Given the description of an element on the screen output the (x, y) to click on. 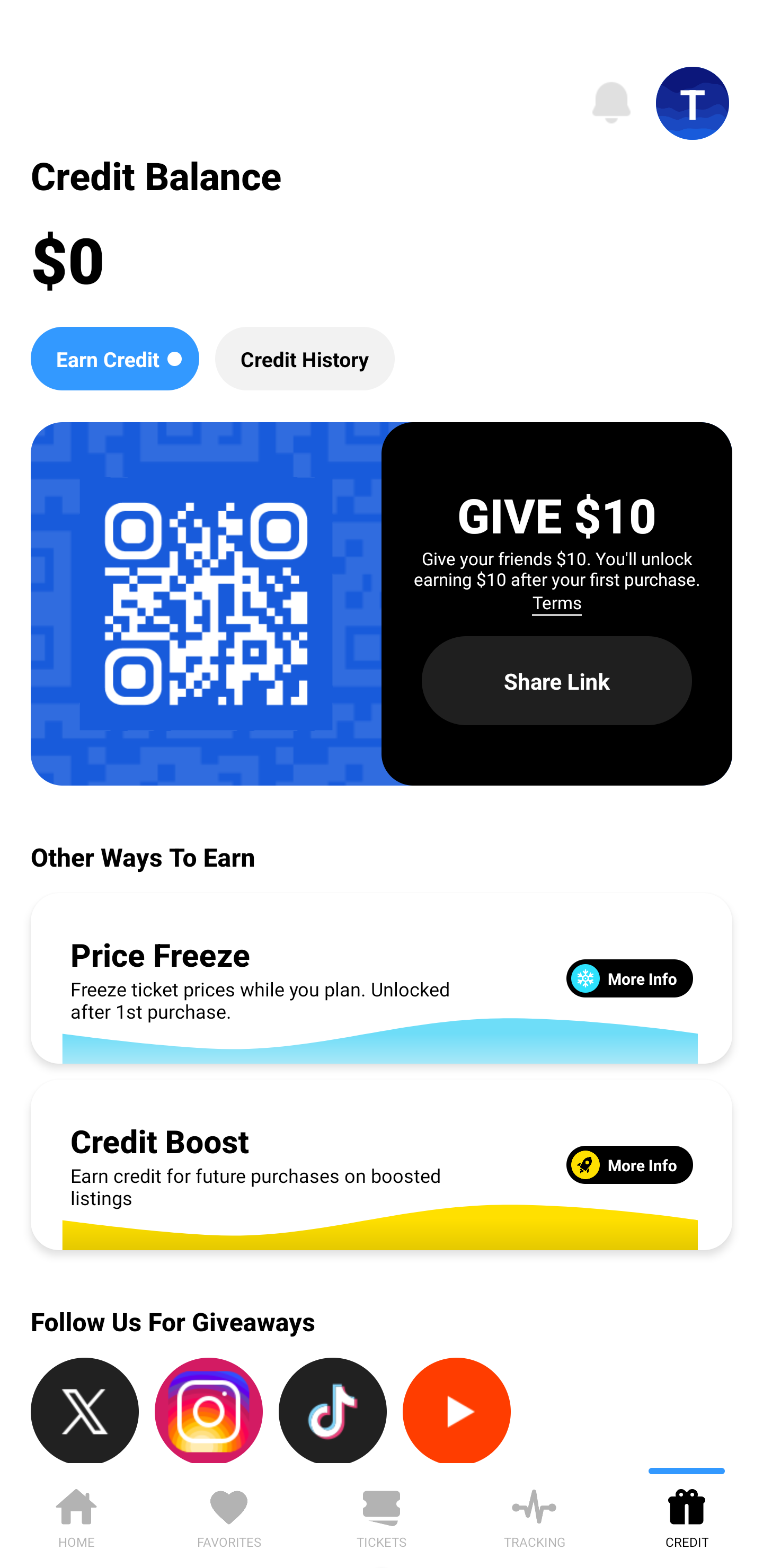
T (692, 103)
Earn Credit (114, 358)
Credit History (304, 358)
Share Link (556, 680)
More Info (629, 978)
More Info (629, 1164)
X (84, 1409)
Instagram (208, 1409)
TikTok (332, 1409)
YouTube (456, 1409)
HOME (76, 1515)
FAVORITES (228, 1515)
TICKETS (381, 1515)
TRACKING (533, 1515)
CREDIT (686, 1515)
